Given the description of an element on the screen output the (x, y) to click on. 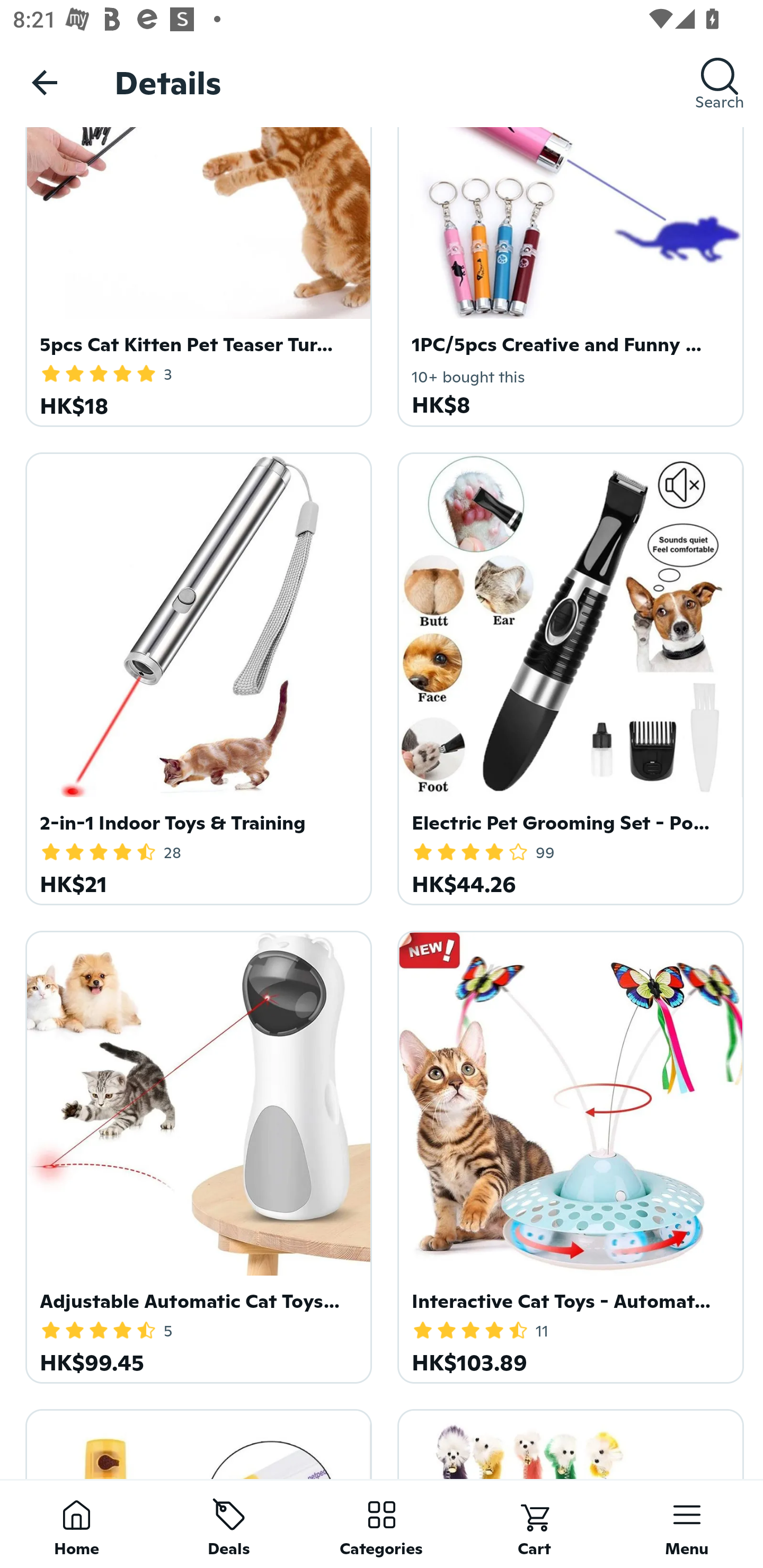
Navigate up (44, 82)
Search (719, 82)
Home (76, 1523)
Deals (228, 1523)
Categories (381, 1523)
Cart (533, 1523)
Menu (686, 1523)
